Given the description of an element on the screen output the (x, y) to click on. 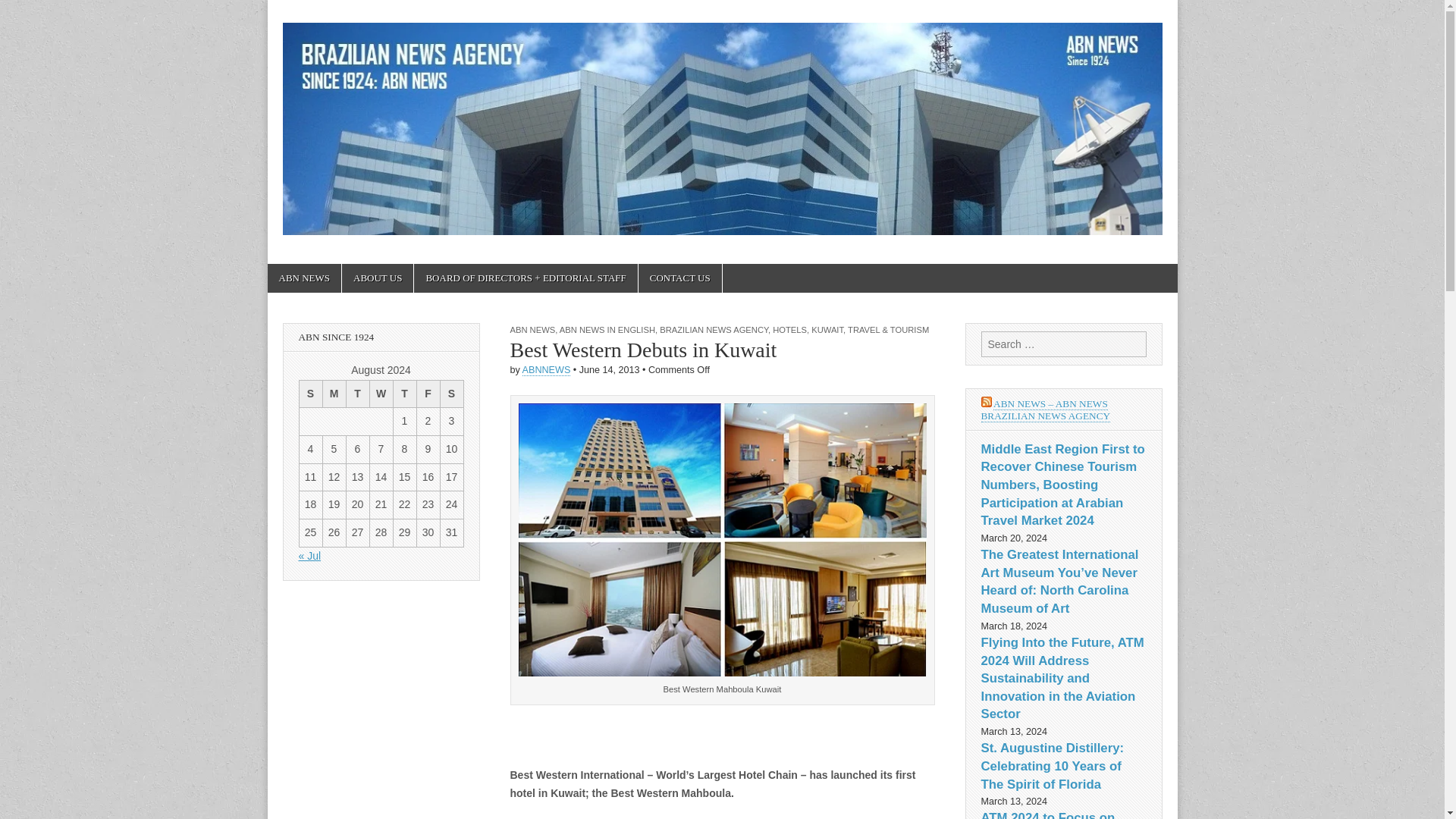
ABNNEWS (546, 369)
BRAZILIAN NEWS AGENCY (713, 329)
Posts by ABNNEWS (546, 369)
HOTELS (789, 329)
ABN NEWS BRAZILIAN NEWS AGENCY (380, 336)
ABN NEWS (303, 277)
KUWAIT (826, 329)
ABN NEWS (531, 329)
ABN NEWS BRAZILIAN NEWS AGENCY (380, 336)
ABN NEWS IN ENGLISH (607, 329)
ABOUT US (377, 277)
CONTACT US (680, 277)
